Given the description of an element on the screen output the (x, y) to click on. 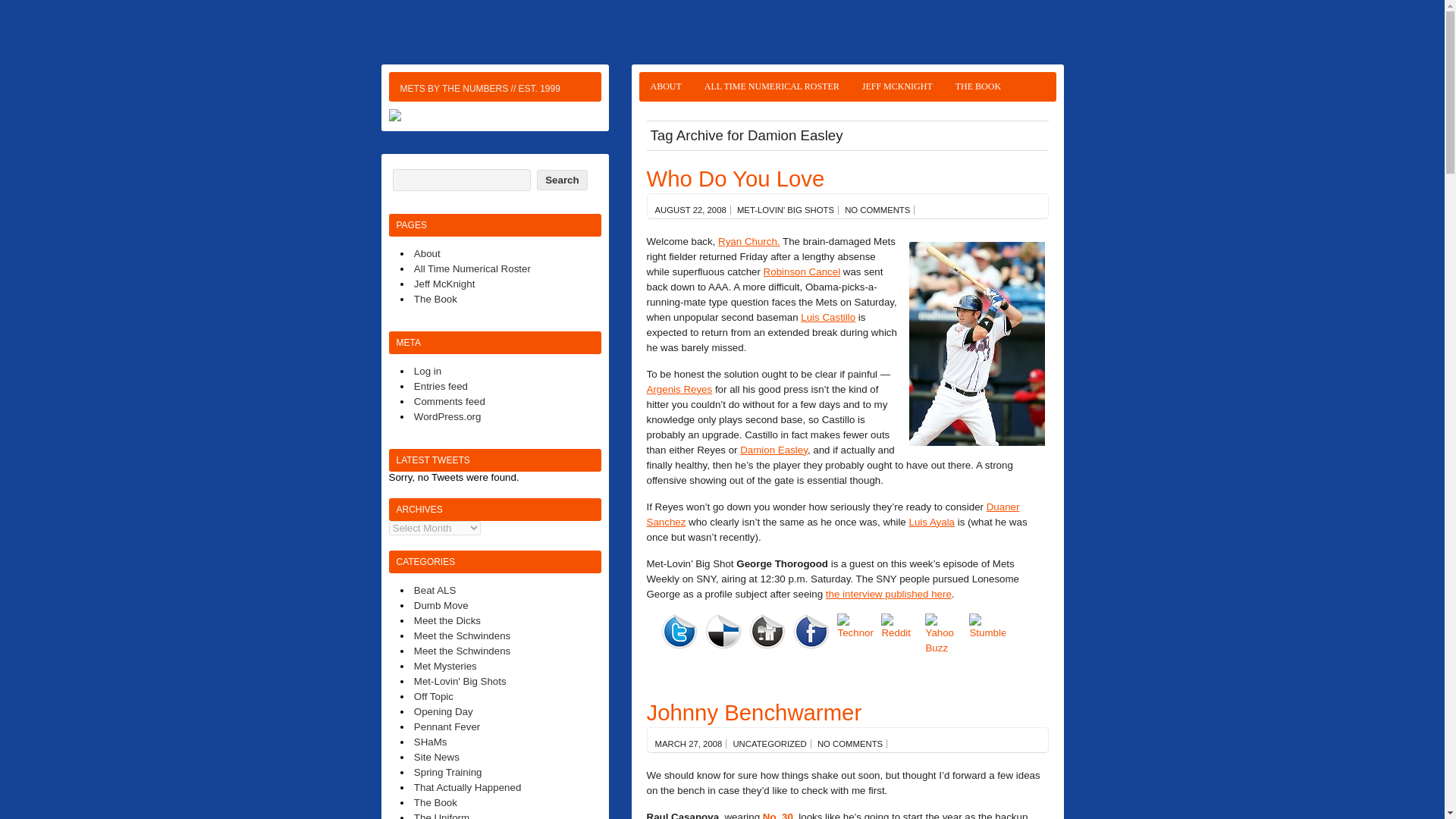
Digg (771, 631)
StumbleUpon (991, 631)
del.icio.us (722, 631)
Ryan Church. (748, 241)
Johnny Benchwarmer (753, 712)
Search (561, 179)
Reddit (902, 631)
StumbleUpon (987, 626)
Facebook (811, 631)
ALL TIME NUMERICAL ROSTER (771, 86)
AUGUST 22, 2008 (690, 209)
Argenis Reyes (678, 389)
NO COMMENTS (877, 209)
NO COMMENTS (849, 743)
No. 30 (777, 815)
